Given the description of an element on the screen output the (x, y) to click on. 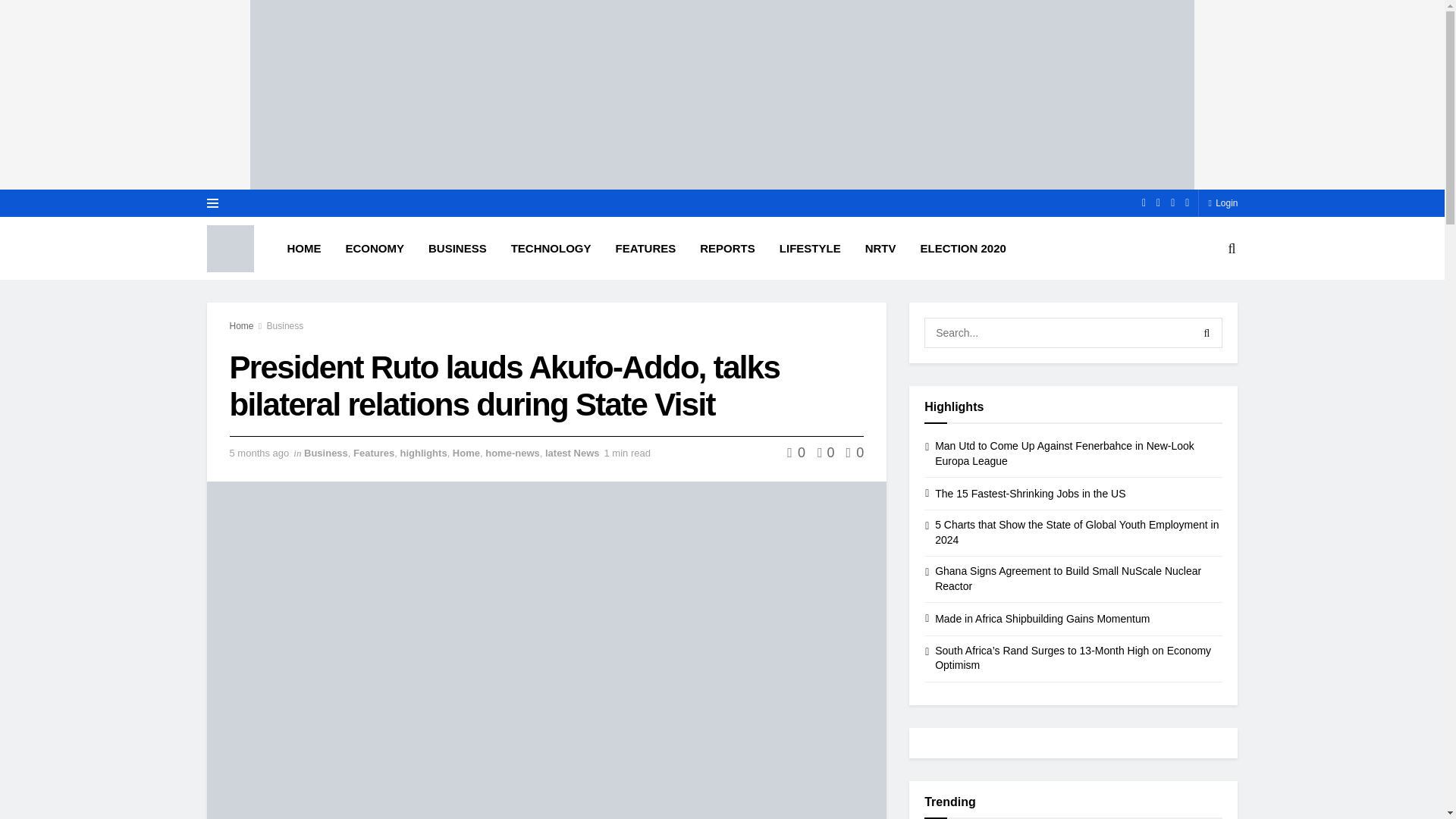
HOME (304, 247)
BUSINESS (457, 247)
ECONOMY (374, 247)
REPORTS (727, 247)
FEATURES (646, 247)
TECHNOLOGY (551, 247)
Login (1222, 203)
